Given the description of an element on the screen output the (x, y) to click on. 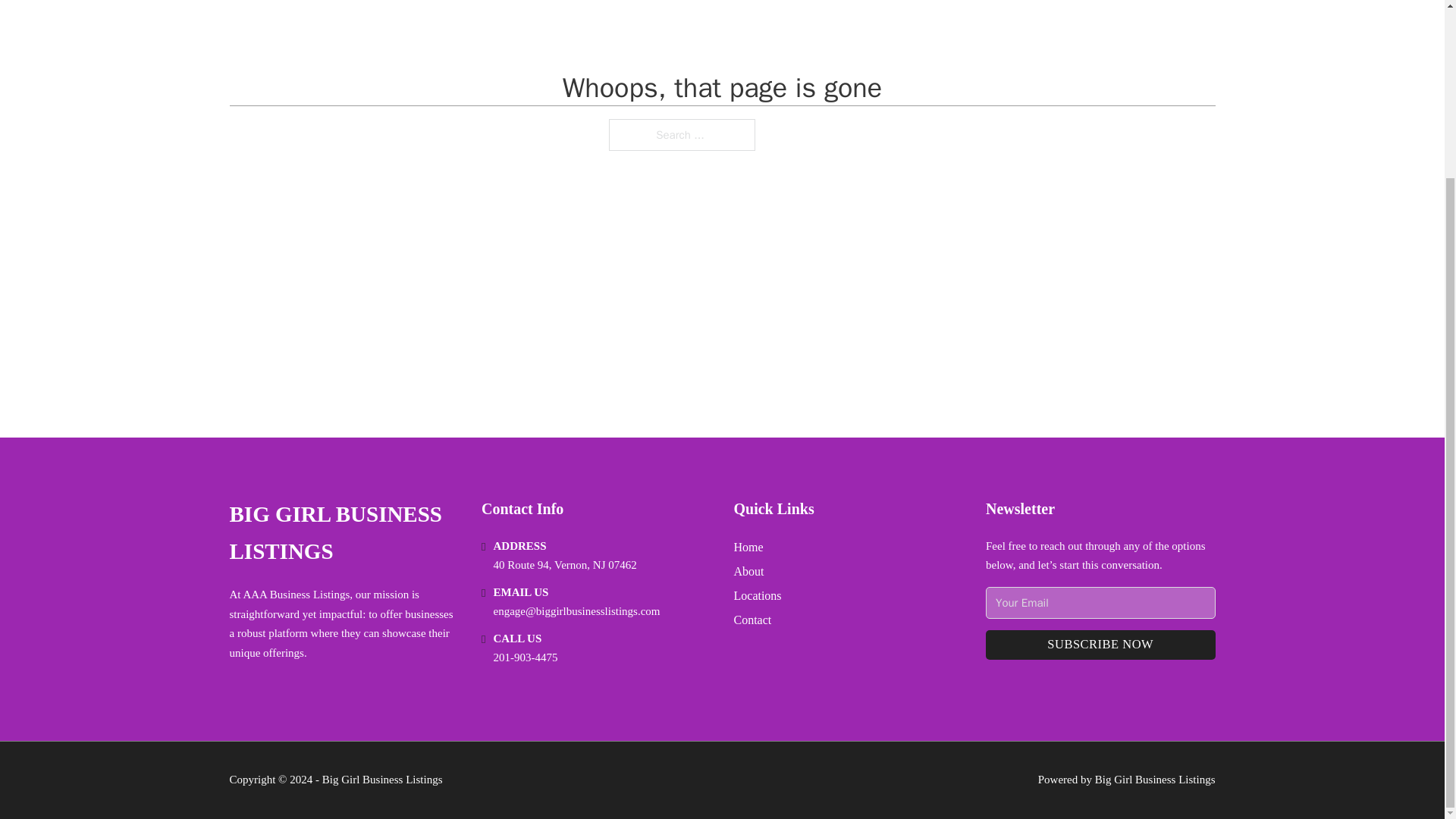
Locations (757, 595)
SUBSCRIBE NOW (1100, 644)
Contact (752, 619)
Home (747, 547)
201-903-4475 (525, 657)
About (748, 571)
BIG GIRL BUSINESS LISTINGS (343, 533)
